Given the description of an element on the screen output the (x, y) to click on. 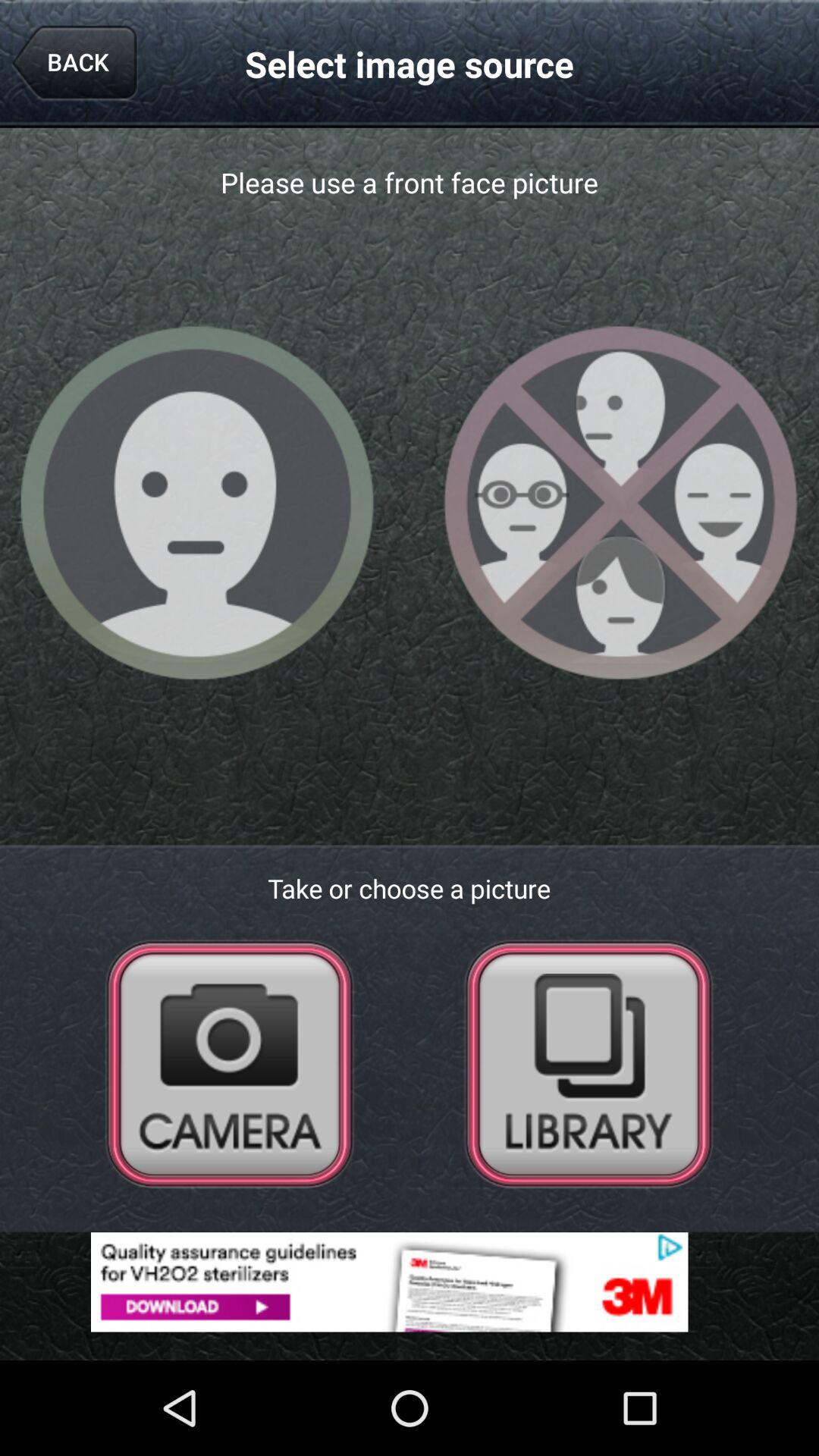
library option (588, 1063)
